Given the description of an element on the screen output the (x, y) to click on. 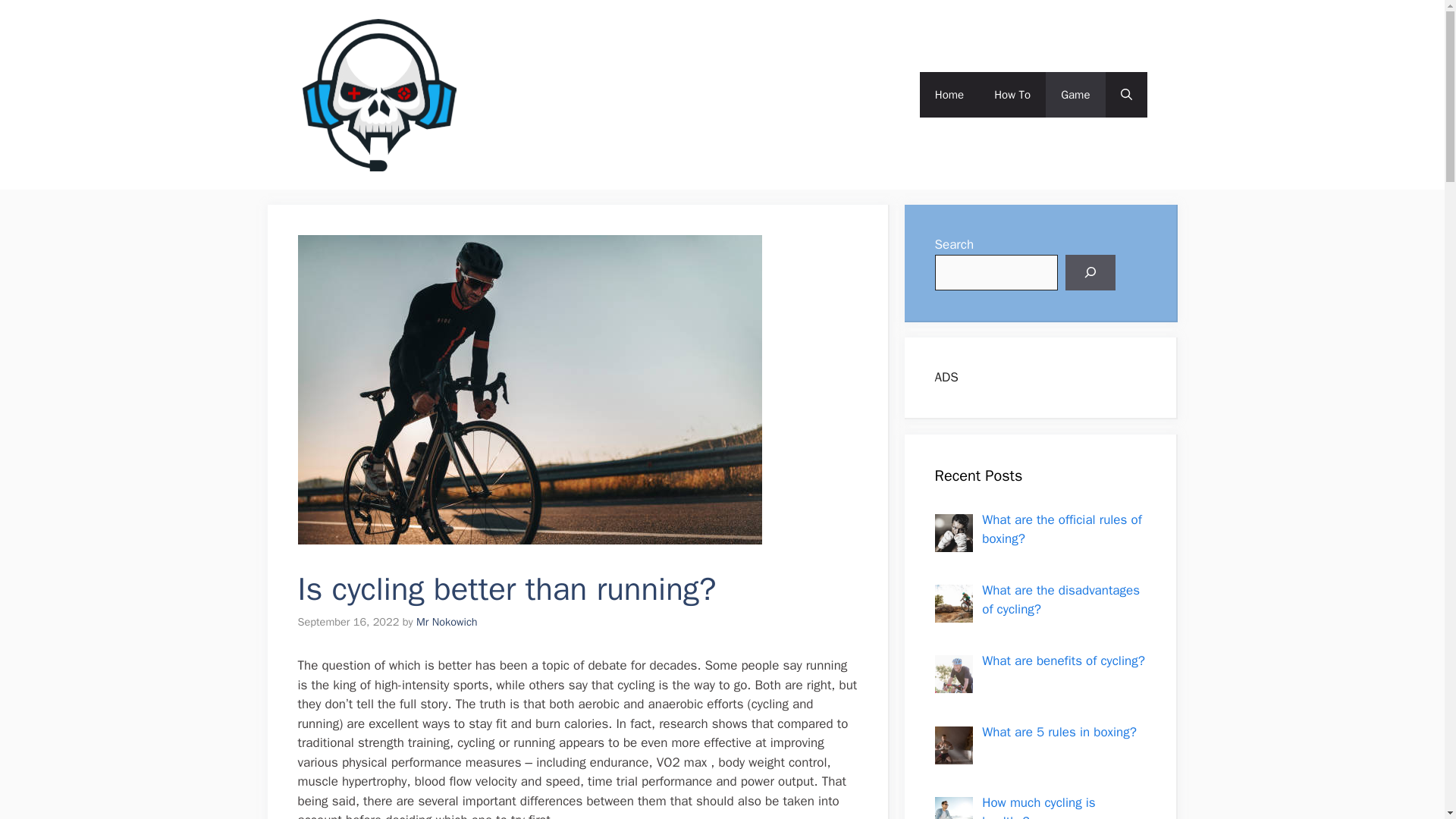
Home (949, 94)
View all posts by Mr Nokowich (446, 621)
What are the disadvantages of cycling? (1060, 600)
Game (1075, 94)
XPlayer.org (518, 94)
What are the official rules of boxing? (1061, 529)
How much cycling is healthy? (1037, 806)
What are 5 rules in boxing? (1059, 731)
How To (1011, 94)
Mr Nokowich (446, 621)
What are benefits of cycling? (1062, 660)
